Given the description of an element on the screen output the (x, y) to click on. 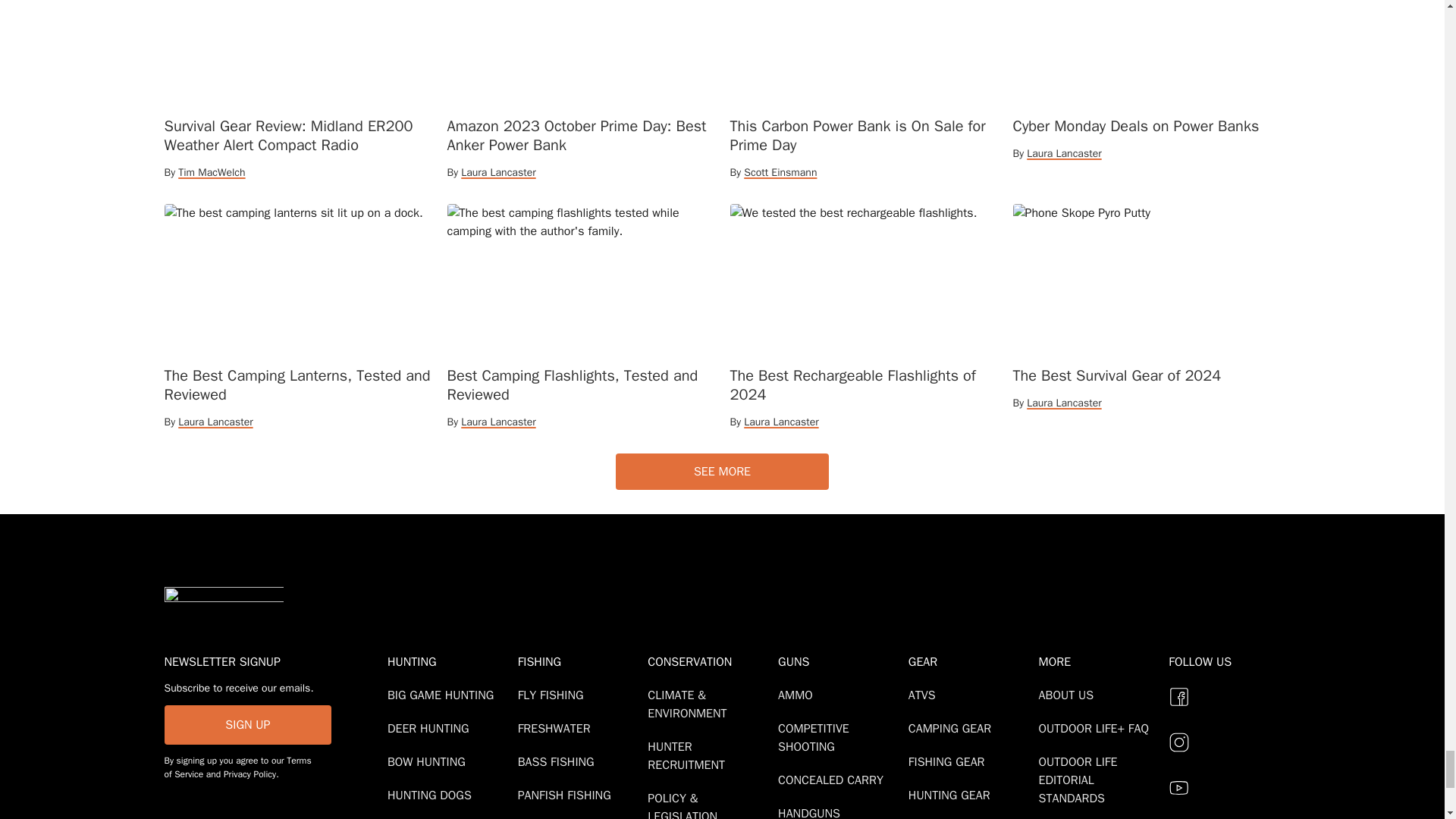
Deer Hunting (431, 727)
Hunting (449, 660)
Conservation (709, 660)
Fishing (580, 660)
Fly Fishing (553, 694)
Big Game Hunting (443, 694)
